Given the description of an element on the screen output the (x, y) to click on. 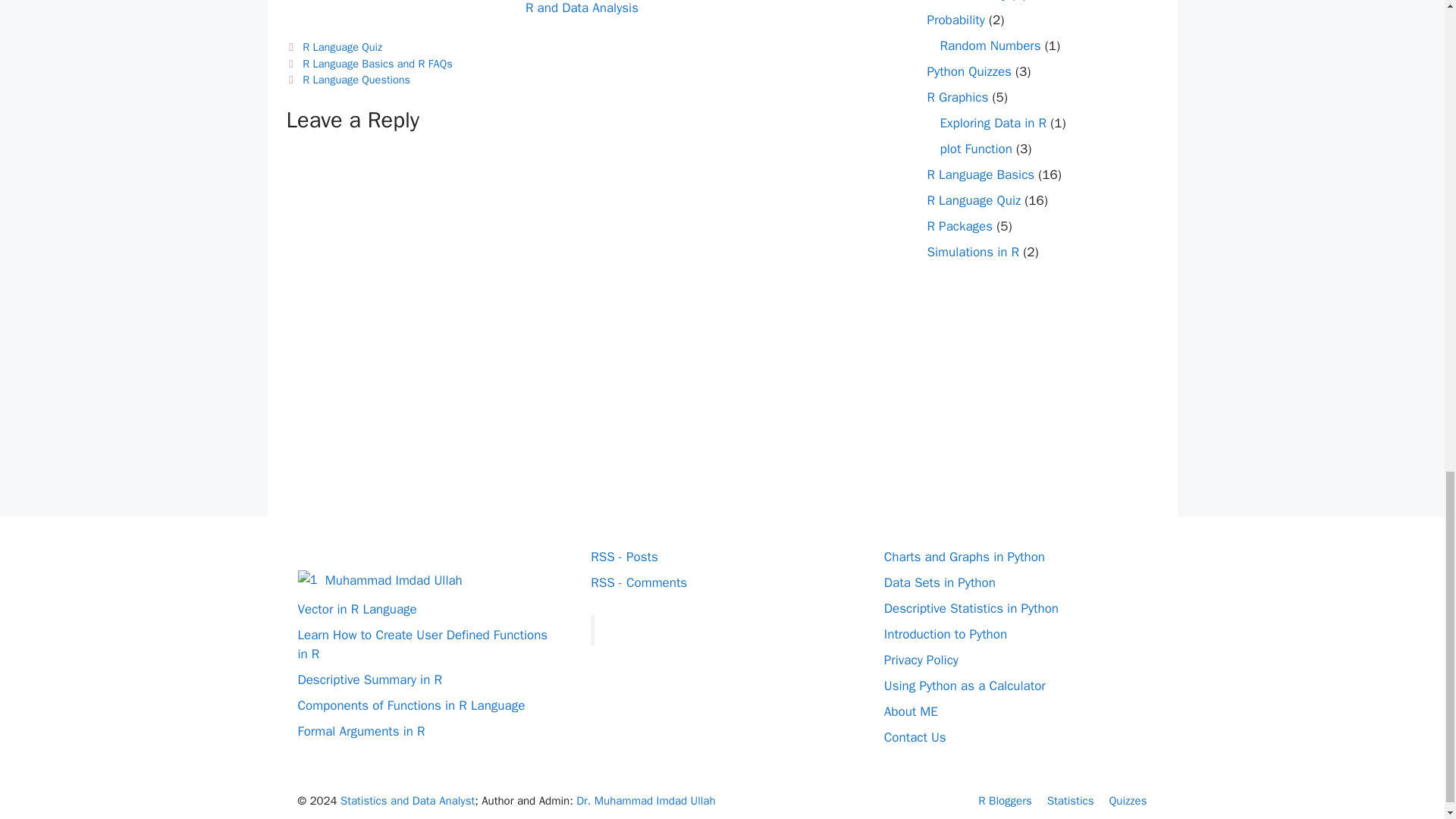
R and Data Analysis (582, 7)
